Given the description of an element on the screen output the (x, y) to click on. 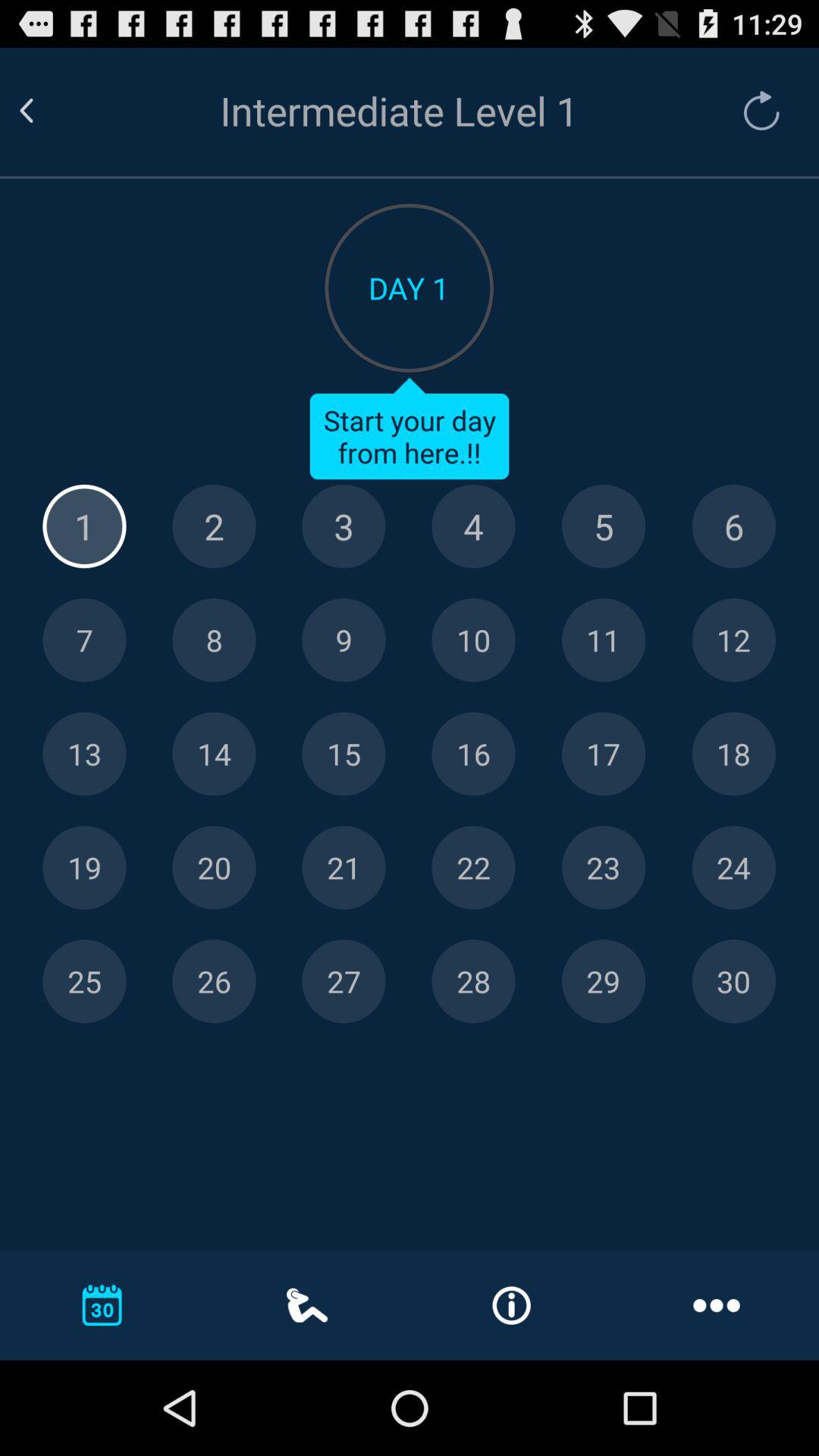
mark for hour (733, 639)
